Given the description of an element on the screen output the (x, y) to click on. 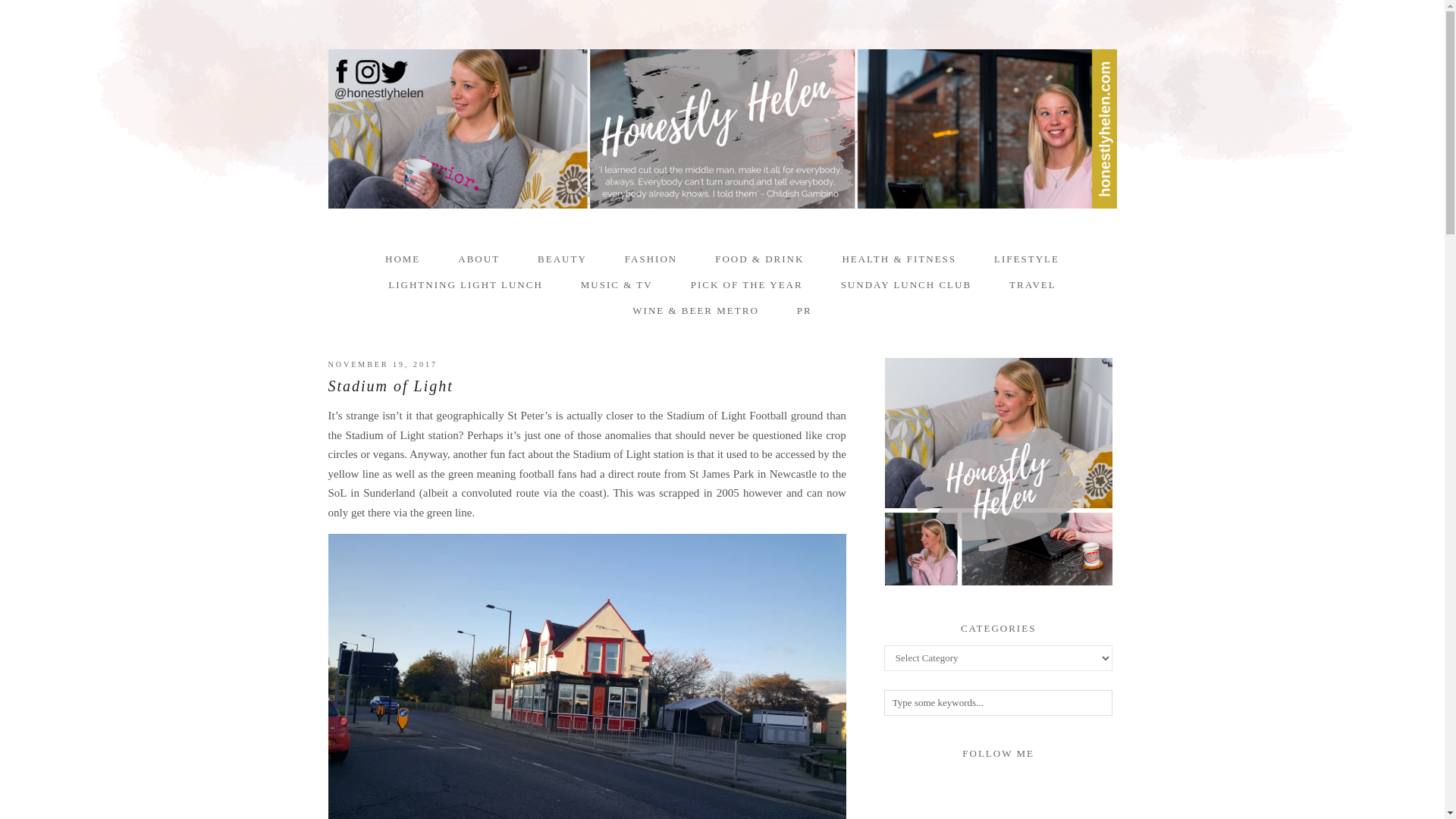
PR (804, 310)
Instagram (1024, 782)
FASHION (650, 258)
TRAVEL (1032, 284)
BEAUTY (561, 258)
ABOUT (478, 258)
LIFESTYLE (1026, 258)
HOME (402, 258)
LIGHTNING LIGHT LUNCH (465, 284)
Twitter (971, 782)
